Given the description of an element on the screen output the (x, y) to click on. 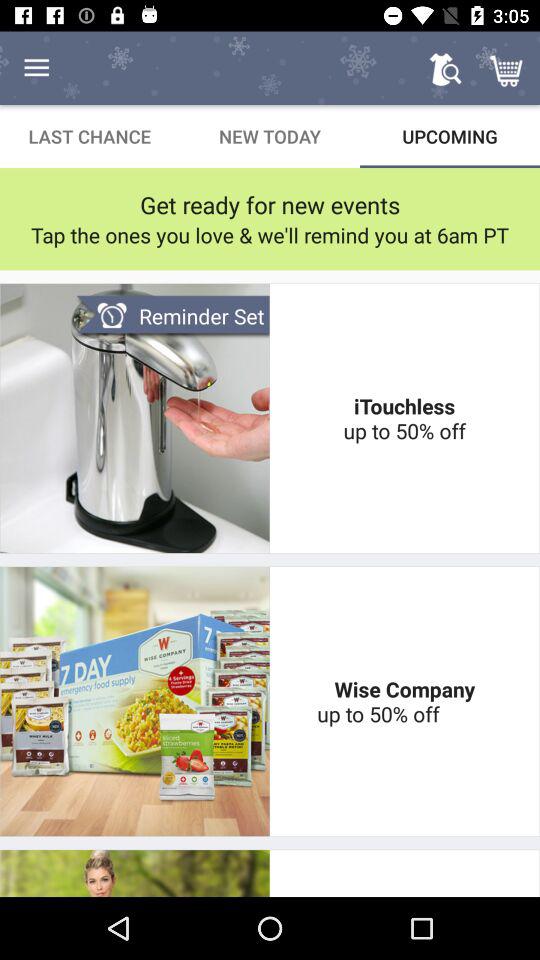
turn off icon below tap the ones item (171, 316)
